Given the description of an element on the screen output the (x, y) to click on. 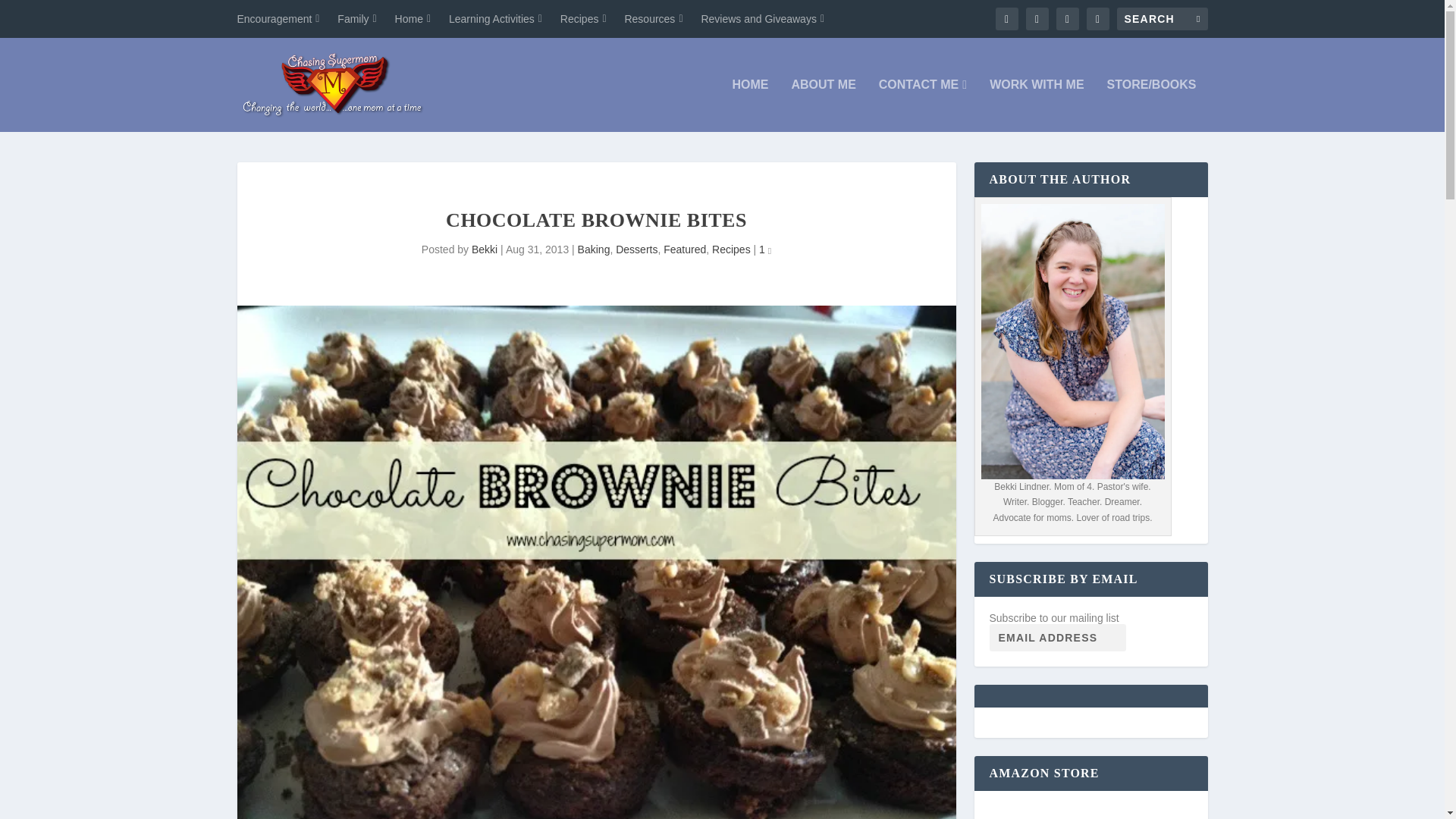
Home (412, 18)
Posts by Bekki (484, 249)
Encouragement (276, 18)
Learning Activities (494, 18)
Search for: (1161, 18)
Family (356, 18)
